Given the description of an element on the screen output the (x, y) to click on. 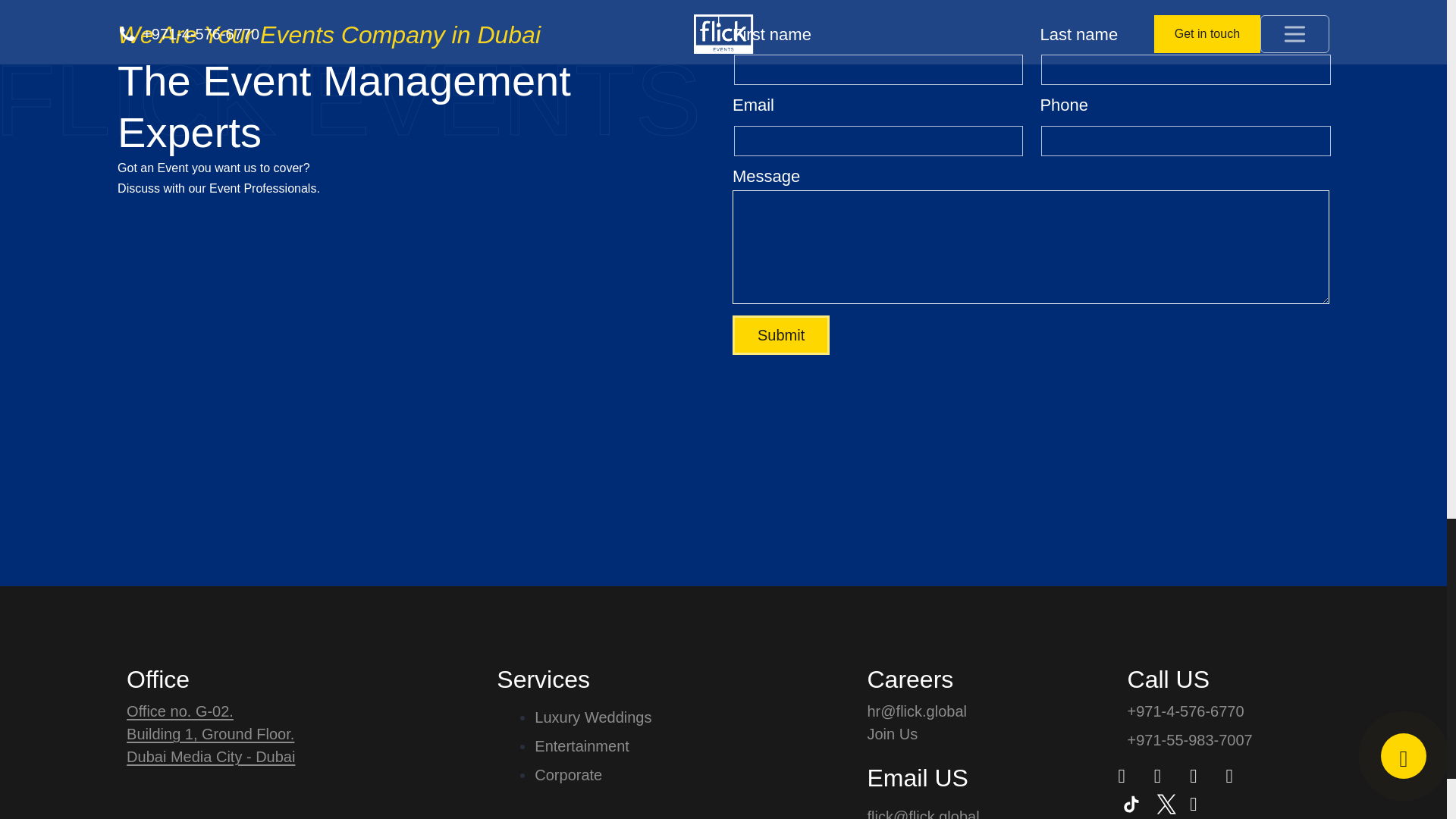
Submit (780, 334)
Join Us (923, 733)
Corporate (592, 774)
Entertainment (592, 745)
Luxury Weddings (592, 716)
Submit (780, 334)
